Given the description of an element on the screen output the (x, y) to click on. 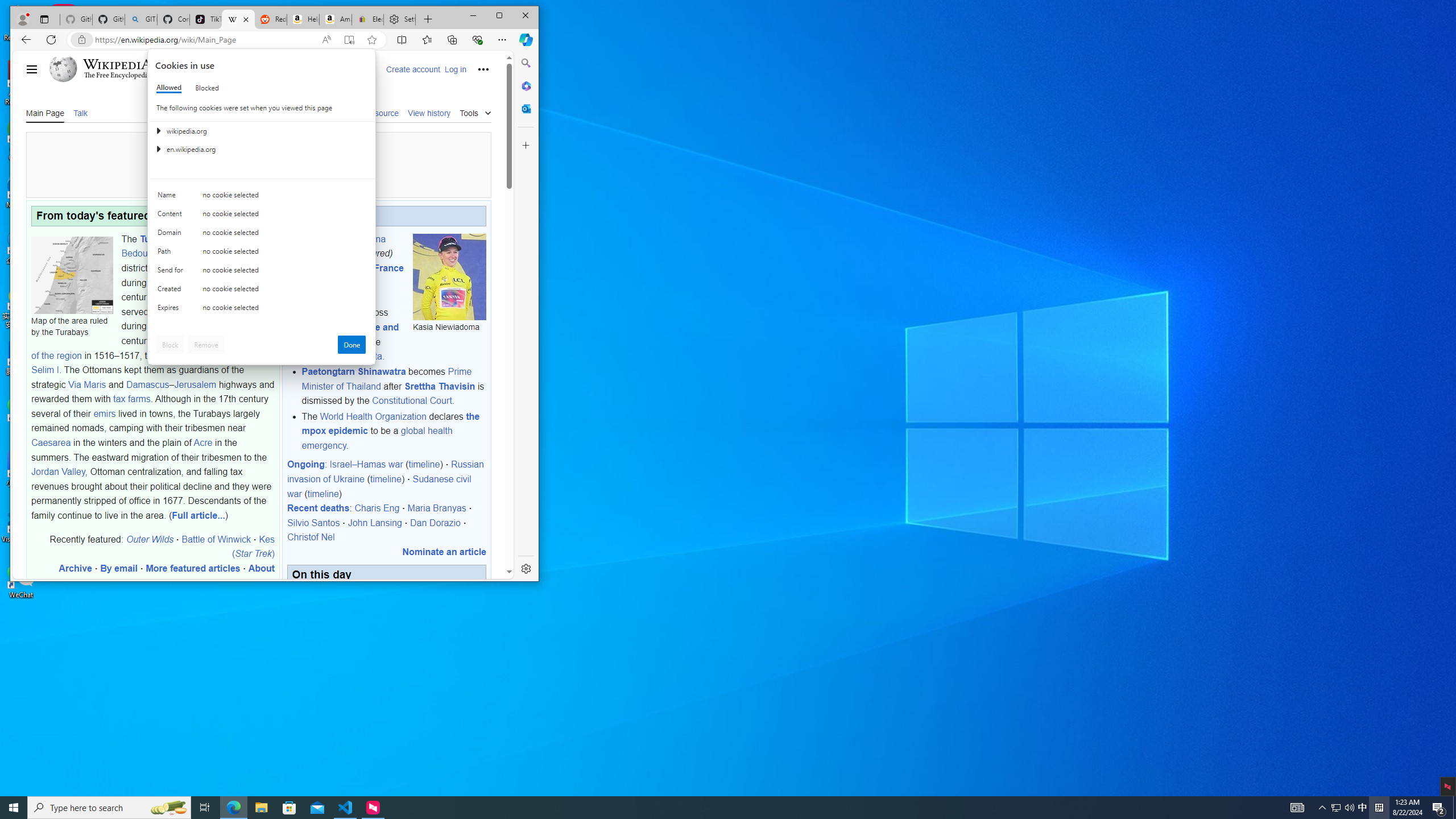
Blocked (206, 87)
Remove (205, 344)
Search highlights icon opens search home window (167, 807)
Class: c0153 c0157 (261, 309)
Content (172, 216)
Type here to search (108, 807)
Start (13, 807)
User Promoted Notification Area (1342, 807)
Q2790: 100% (1349, 807)
Running applications (707, 807)
AutomationID: 4105 (1297, 807)
Microsoft Edge - 1 running window (233, 807)
Show desktop (1454, 807)
no cookie selected (284, 310)
Task View (204, 807)
